Given the description of an element on the screen output the (x, y) to click on. 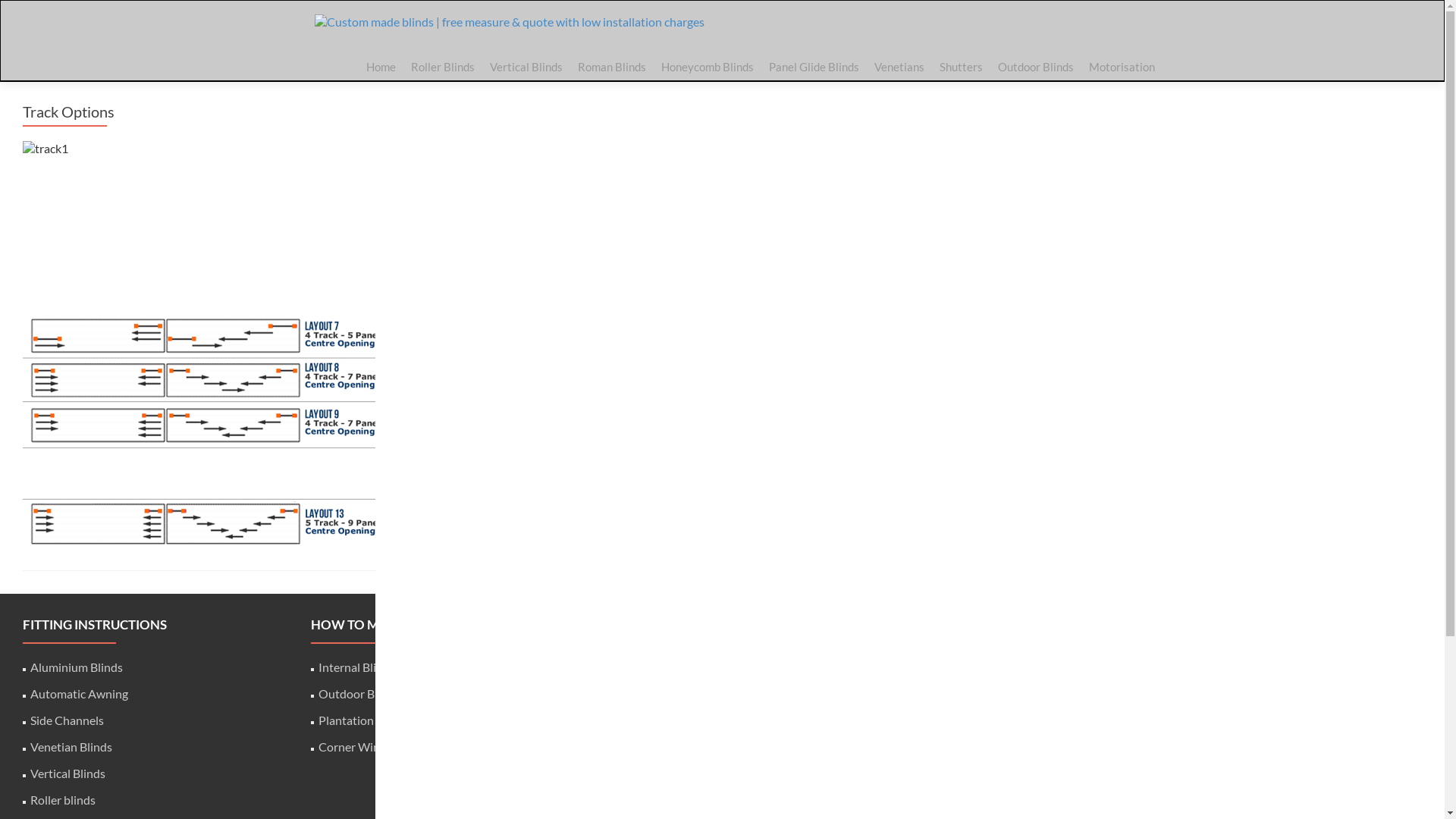
Internal Blinds Element type: text (356, 666)
Roman Blinds Element type: text (611, 66)
Aluminium Blinds Element type: text (76, 666)
Outdoor Blinds Element type: text (1035, 66)
Venetian Blinds Element type: text (71, 746)
Automatic Awning Element type: text (79, 693)
Panel Glide Blinds Element type: text (813, 66)
Home Element type: text (380, 66)
Shutters Element type: text (960, 66)
Skip to content Element type: text (365, 37)
Vertical Blinds Element type: text (525, 66)
Corner Windows Element type: text (362, 746)
Vertical Blinds Element type: text (67, 772)
Side Channels Element type: text (66, 719)
Motorisation Element type: text (1121, 66)
Honeycomb Blinds Element type: text (707, 66)
Roller Blinds Element type: text (442, 66)
Plantation shutters Element type: text (369, 719)
Roller blinds Element type: text (62, 799)
Outdoor Blinds Element type: text (358, 693)
Venetians Element type: text (898, 66)
